Given the description of an element on the screen output the (x, y) to click on. 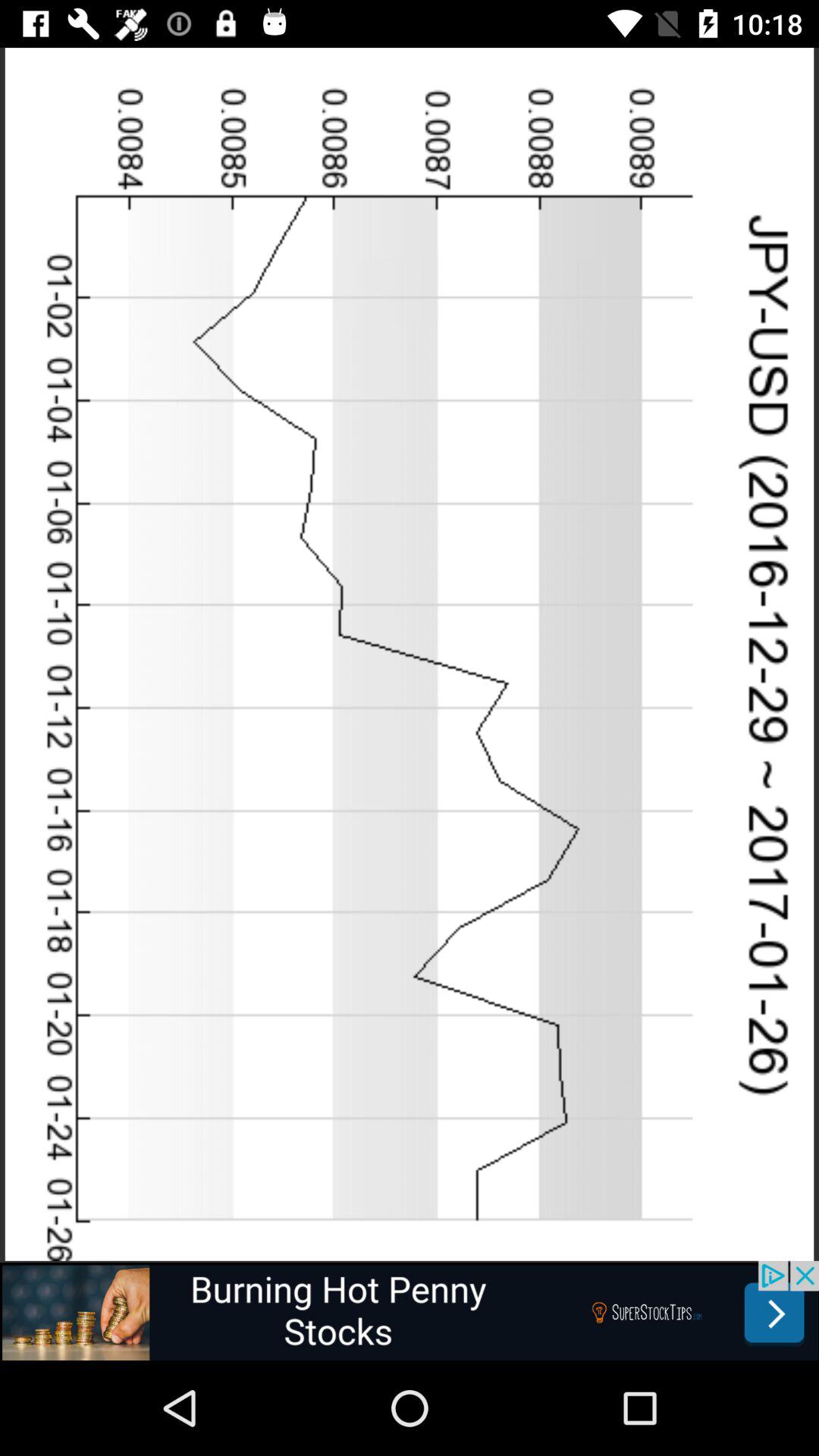
announcement (409, 1310)
